Given the description of an element on the screen output the (x, y) to click on. 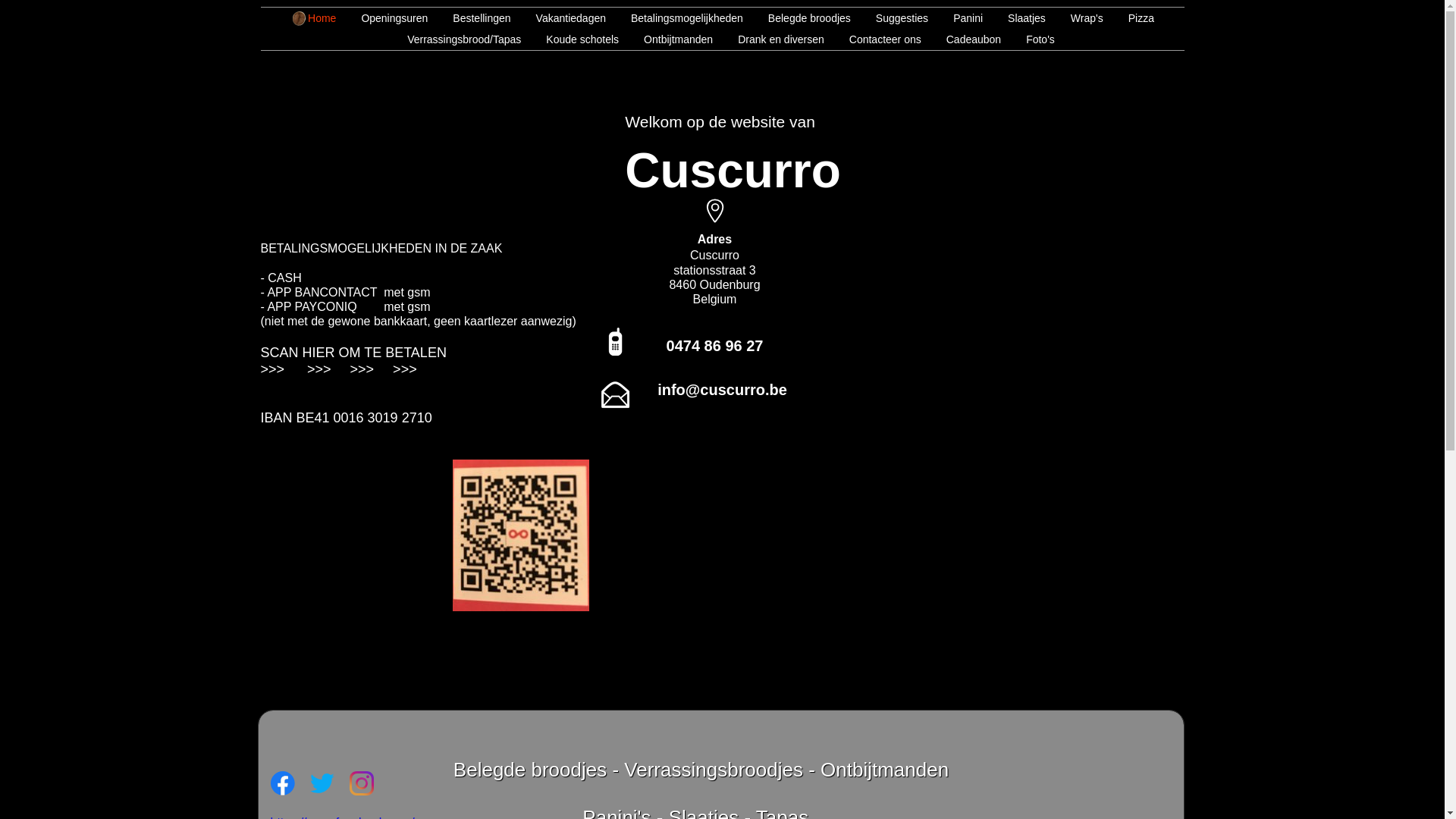
Bestellingen Element type: text (472, 17)
Wrap's Element type: text (1078, 17)
Vakantiedagen Element type: text (561, 17)
Ontbijtmanden Element type: text (669, 39)
Cuscurro Element type: text (732, 182)
Betalingsmogelijkheden Element type: text (677, 17)
Home Element type: text (312, 17)
Openingsuren Element type: text (385, 17)
Drank en diversen Element type: text (772, 39)
Cuscurro
stationsstraat 3
8460 Oudenburg
Belgium Element type: text (713, 276)
Belegde broodjes Element type: text (800, 17)
Cadeaubon Element type: text (964, 39)
Pizza Element type: text (1132, 17)
Foto's Element type: text (1031, 39)
Contacteer ons Element type: text (876, 39)
Slaatjes Element type: text (1017, 17)
Verrassingsbrood/Tapas Element type: text (454, 39)
Panini Element type: text (958, 17)
Koude schotels Element type: text (573, 39)
Suggesties Element type: text (892, 17)
info@cuscurro.be Element type: text (722, 390)
